Given the description of an element on the screen output the (x, y) to click on. 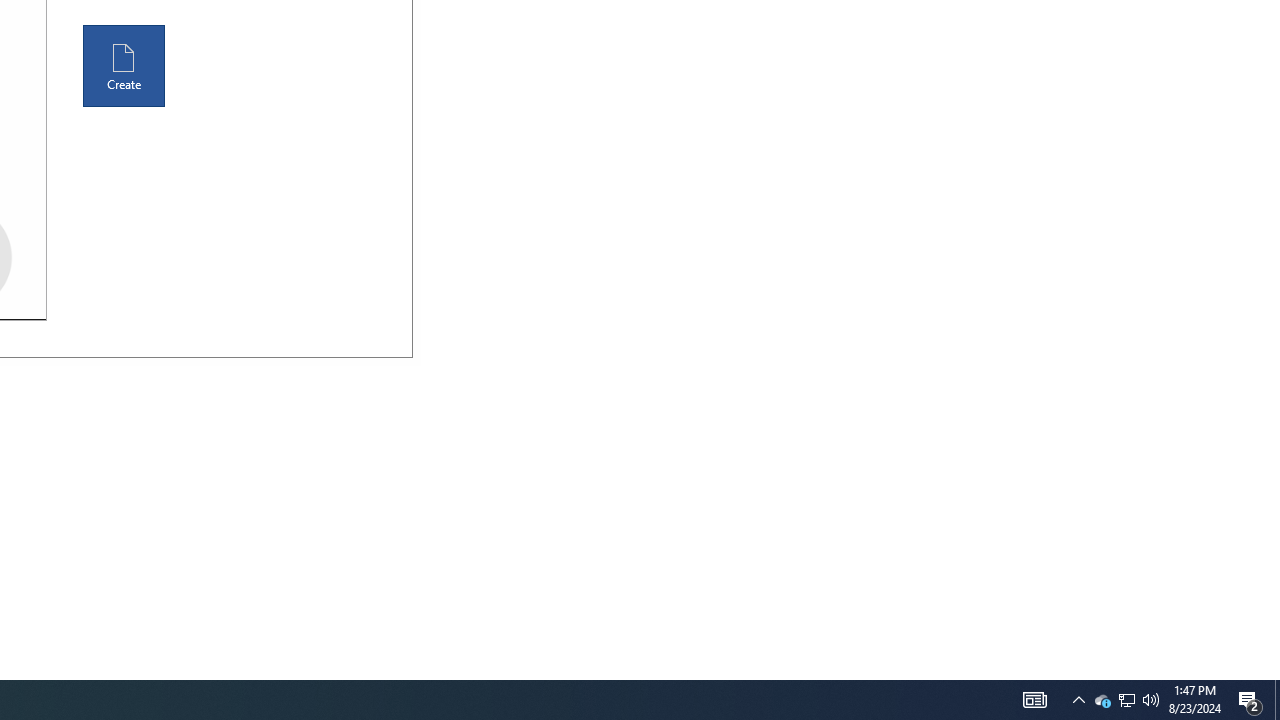
Create (124, 66)
